Given the description of an element on the screen output the (x, y) to click on. 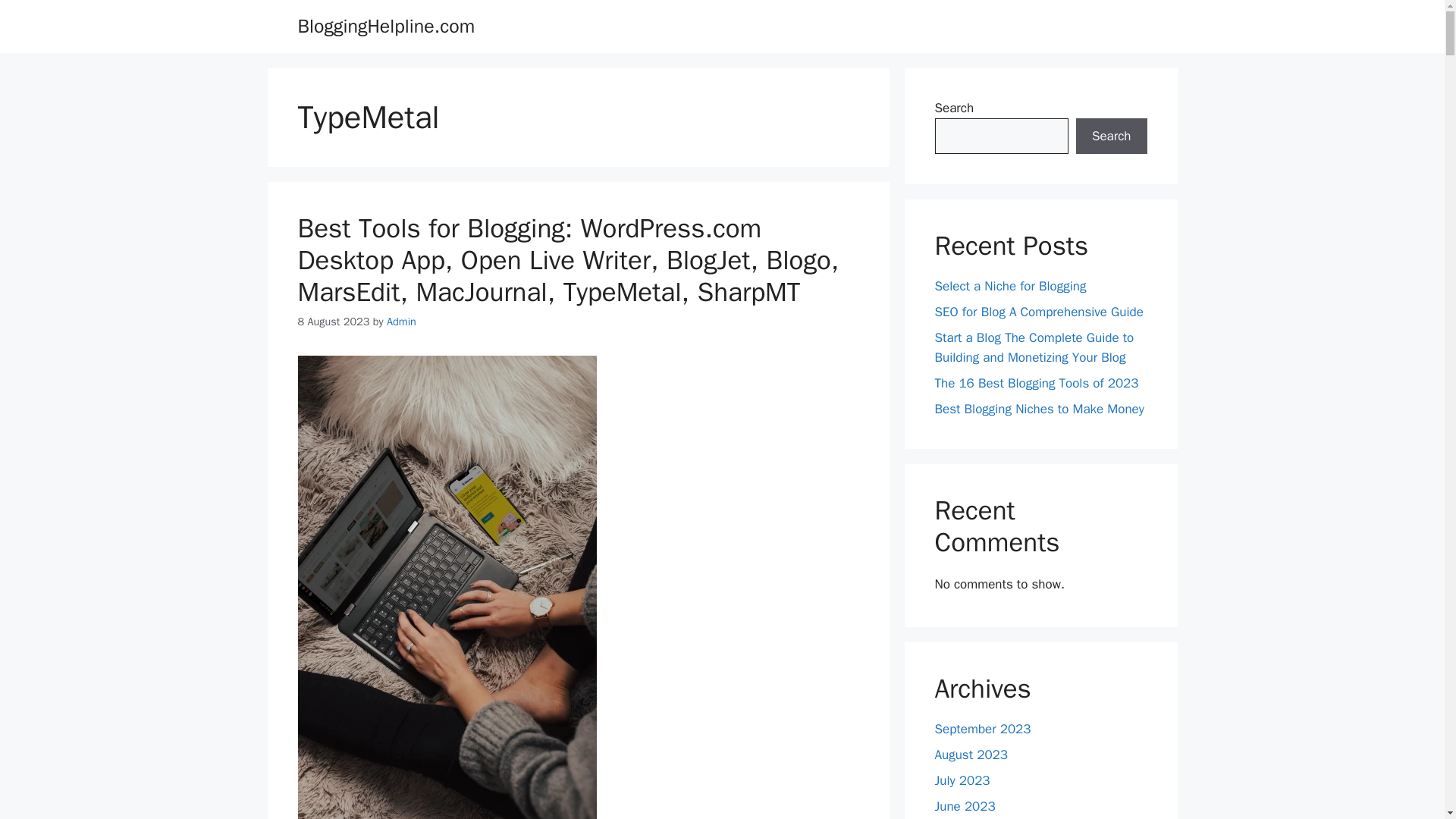
Search (1111, 135)
The 16 Best Blogging Tools of 2023 (1036, 382)
September 2023 (982, 729)
June 2023 (964, 806)
Admin (401, 321)
Select a Niche for Blogging (1010, 286)
View all posts by Admin (401, 321)
SEO for Blog A Comprehensive Guide (1038, 311)
